Given the description of an element on the screen output the (x, y) to click on. 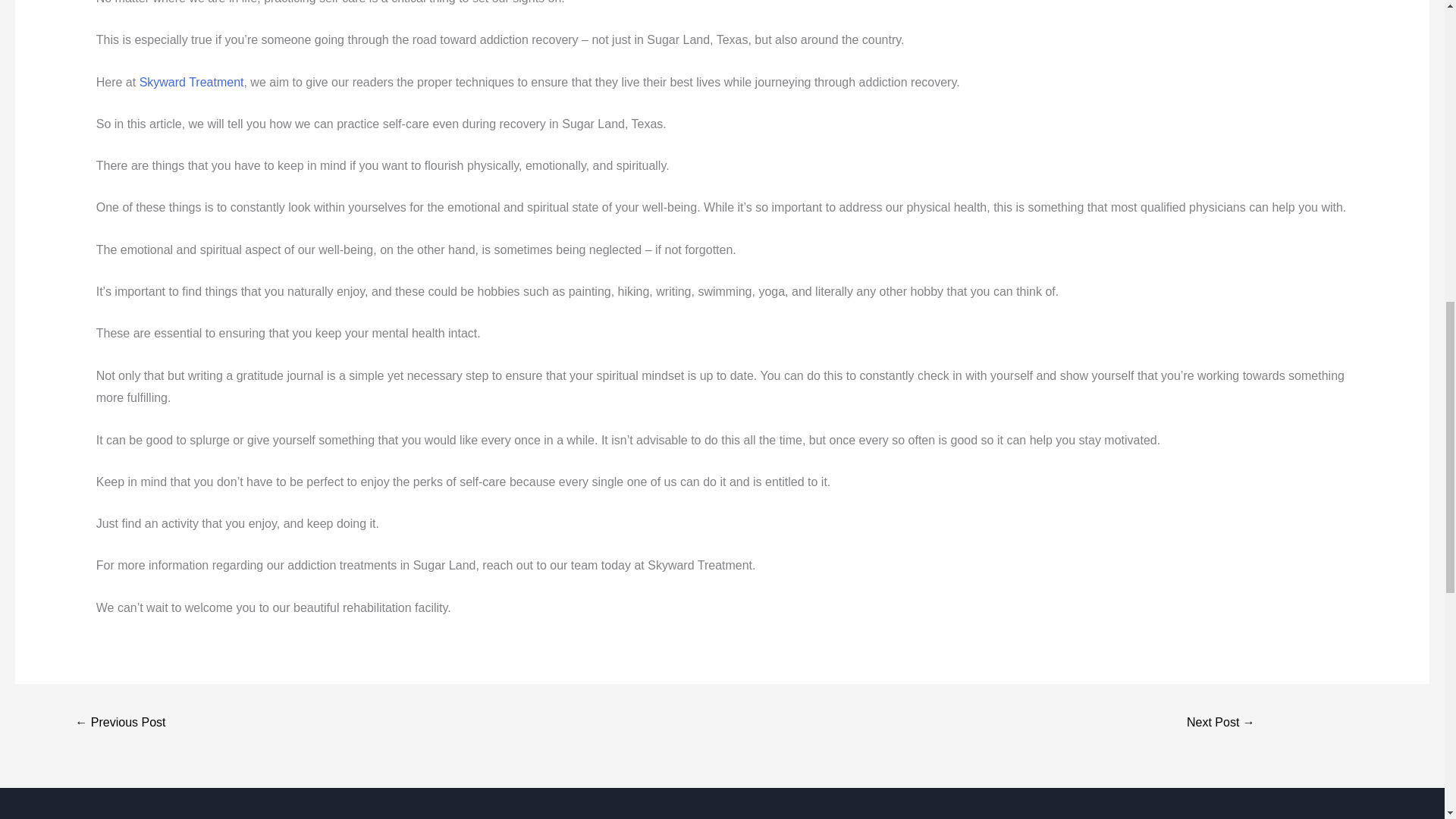
Common Facts About Heroin Addiction in Sugar Land, Texas (119, 723)
